Given the description of an element on the screen output the (x, y) to click on. 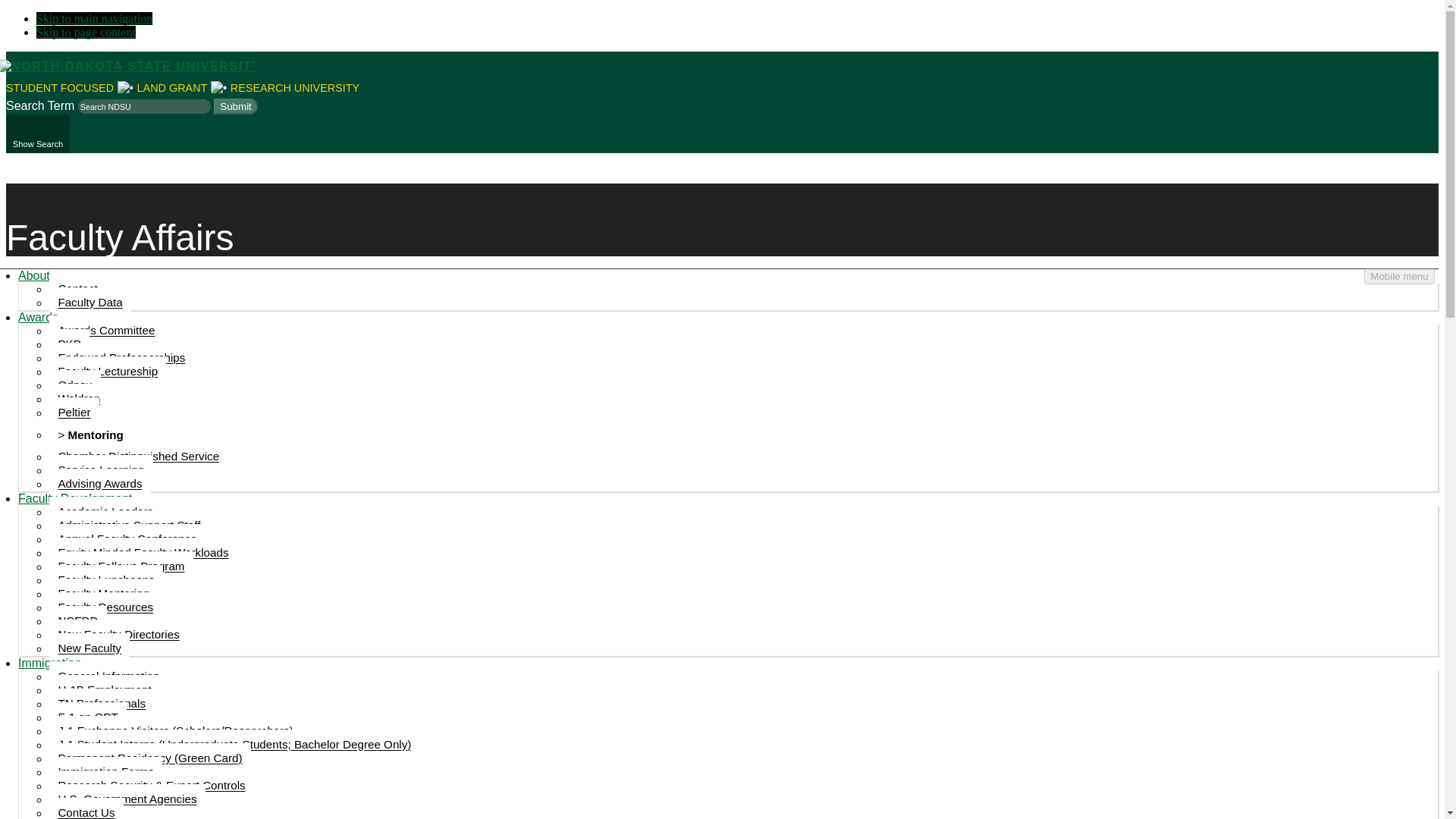
PKP (68, 344)
Faculty Resources (105, 607)
New Faculty Directories (118, 634)
Faculty Lectureship (107, 371)
TN Professionals (101, 703)
New Faculty (89, 648)
STUDENT FOCUSED (59, 87)
Faculty Luncheons (106, 580)
Awards Committee (106, 330)
Annual Faculty Conference (127, 539)
General Information (108, 675)
Show Search (37, 133)
Service Learning (100, 470)
Faculty Affairs (119, 237)
About (33, 275)
